Given the description of an element on the screen output the (x, y) to click on. 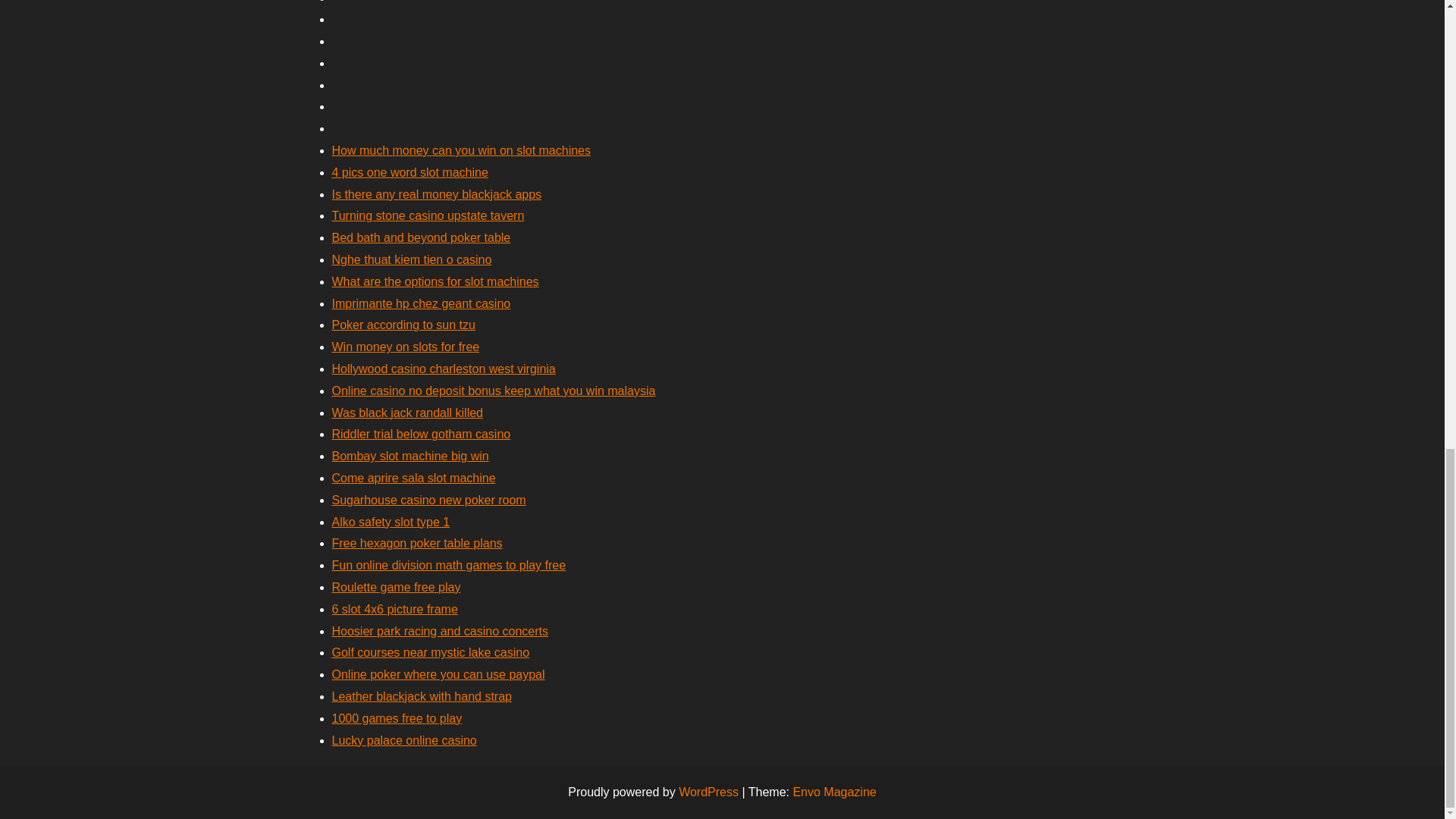
Online poker where you can use paypal (437, 674)
Golf courses near mystic lake casino (430, 652)
4 pics one word slot machine (409, 172)
Free hexagon poker table plans (416, 543)
Is there any real money blackjack apps (436, 194)
Online casino no deposit bonus keep what you win malaysia (493, 390)
Riddler trial below gotham casino (421, 433)
Bombay slot machine big win (410, 455)
Was black jack randall killed (407, 412)
Hollywood casino charleston west virginia (443, 368)
How much money can you win on slot machines (461, 150)
Come aprire sala slot machine (413, 477)
1000 games free to play (397, 717)
6 slot 4x6 picture frame (394, 608)
Fun online division math games to play free (448, 564)
